Given the description of an element on the screen output the (x, y) to click on. 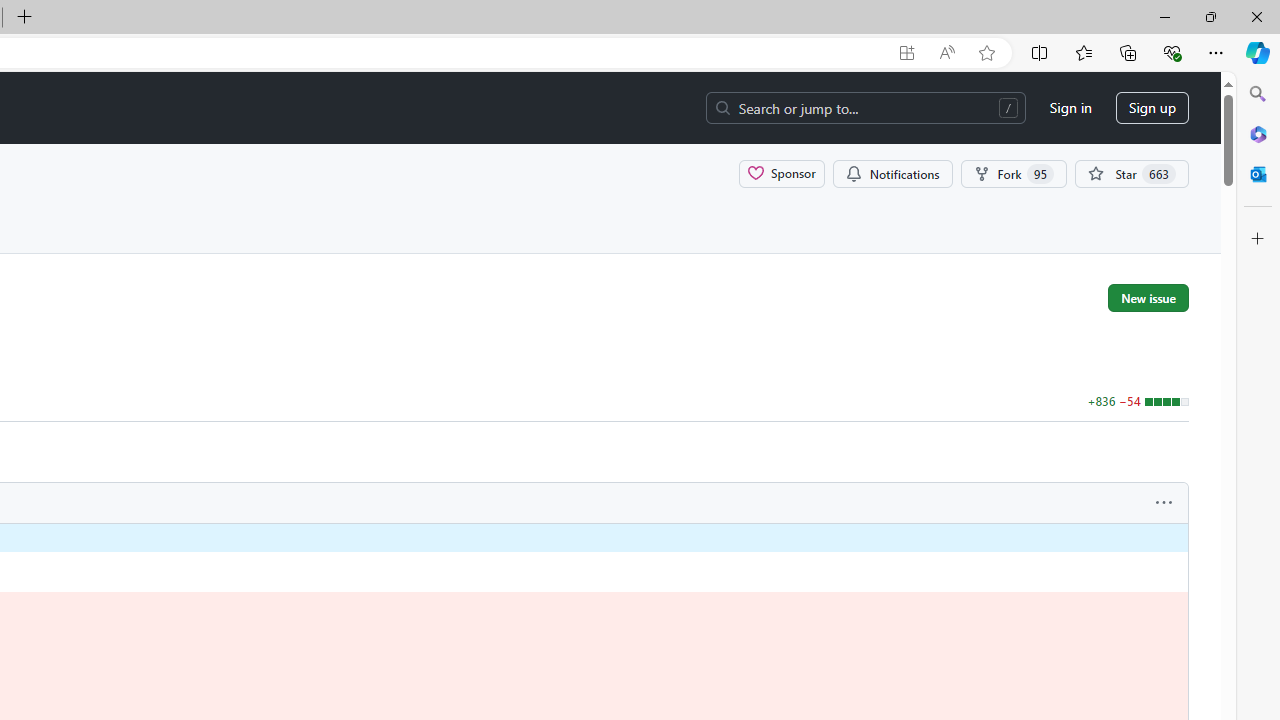
App available. Install GitHub (906, 53)
Sponsor MajkiIT/polish-ads-filter (781, 173)
You must be signed in to change notification settings (892, 173)
You must be signed in to star a repository (1132, 173)
Show options (1163, 503)
Sign in (1070, 107)
New issue (1148, 297)
Fork 95 (1013, 173)
